Given the description of an element on the screen output the (x, y) to click on. 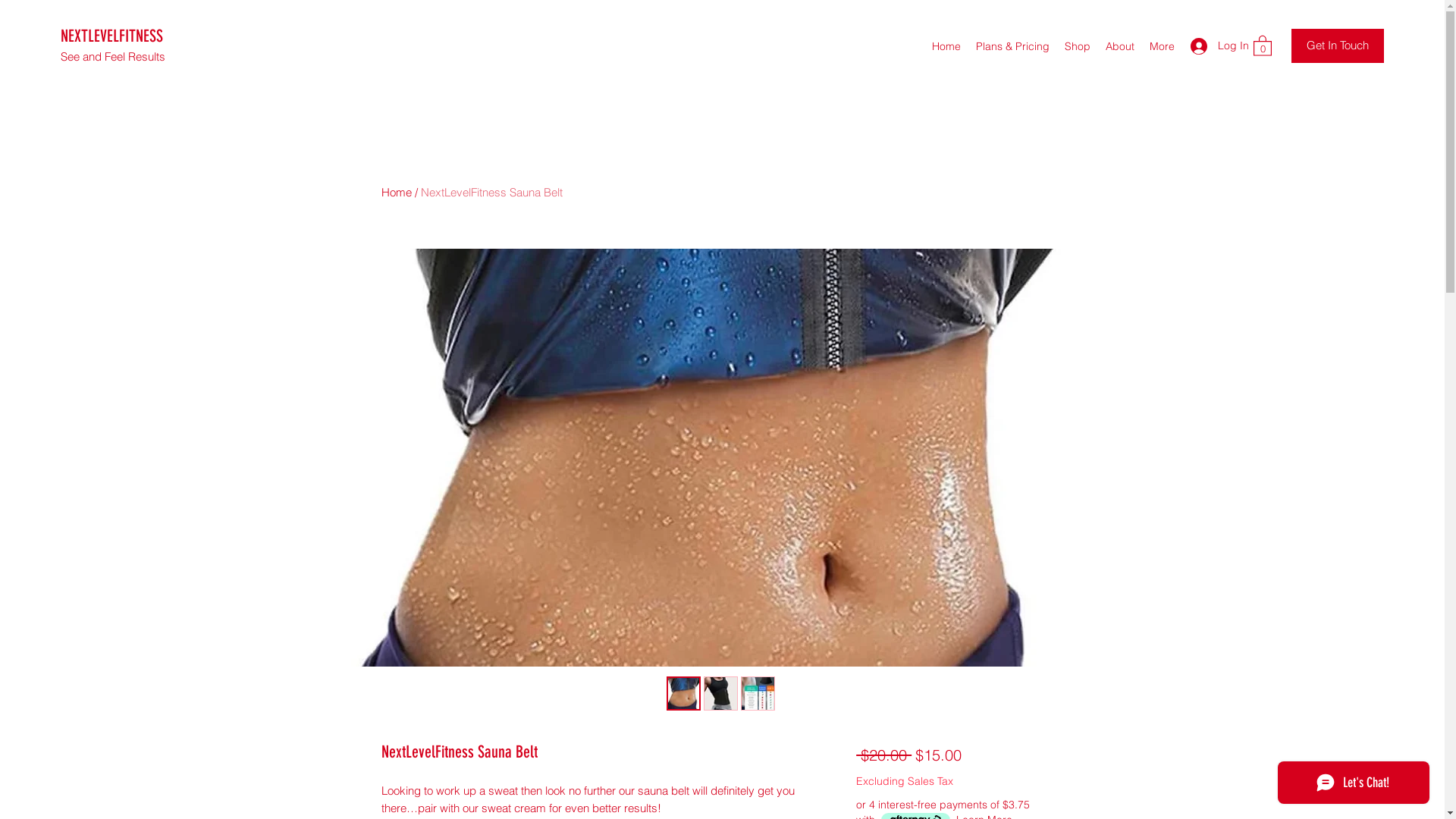
Log In Element type: text (1213, 45)
NextLevelFitness Sauna Belt Element type: text (490, 192)
Plans & Pricing Element type: text (1012, 45)
Home Element type: text (395, 192)
About Element type: text (1120, 45)
Home Element type: text (946, 45)
0 Element type: text (1262, 45)
NEXTLEVELFITNESS Element type: text (111, 35)
Shop Element type: text (1077, 45)
